Given the description of an element on the screen output the (x, y) to click on. 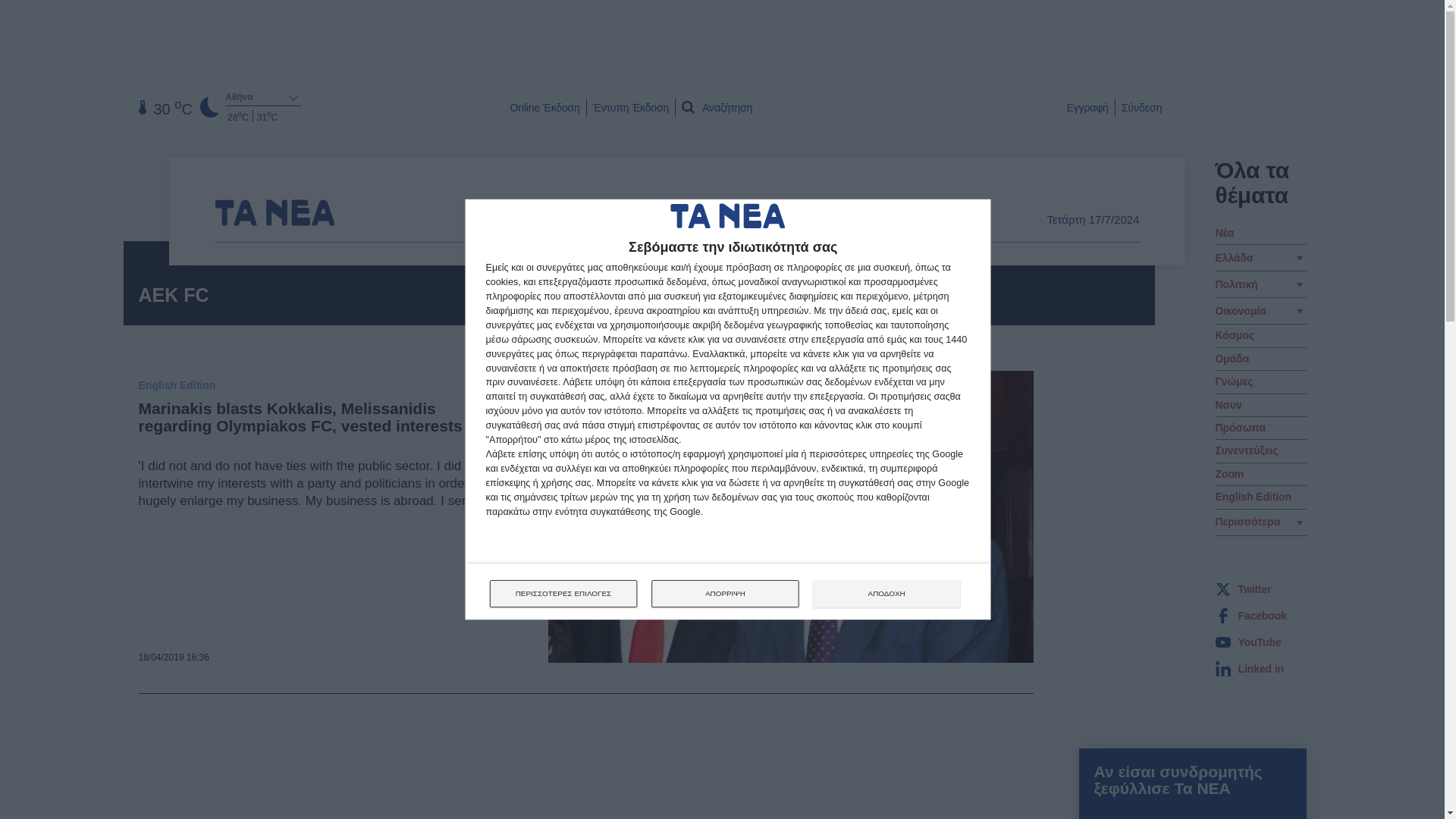
Zoom (1228, 473)
English Edition (1252, 496)
